Given the description of an element on the screen output the (x, y) to click on. 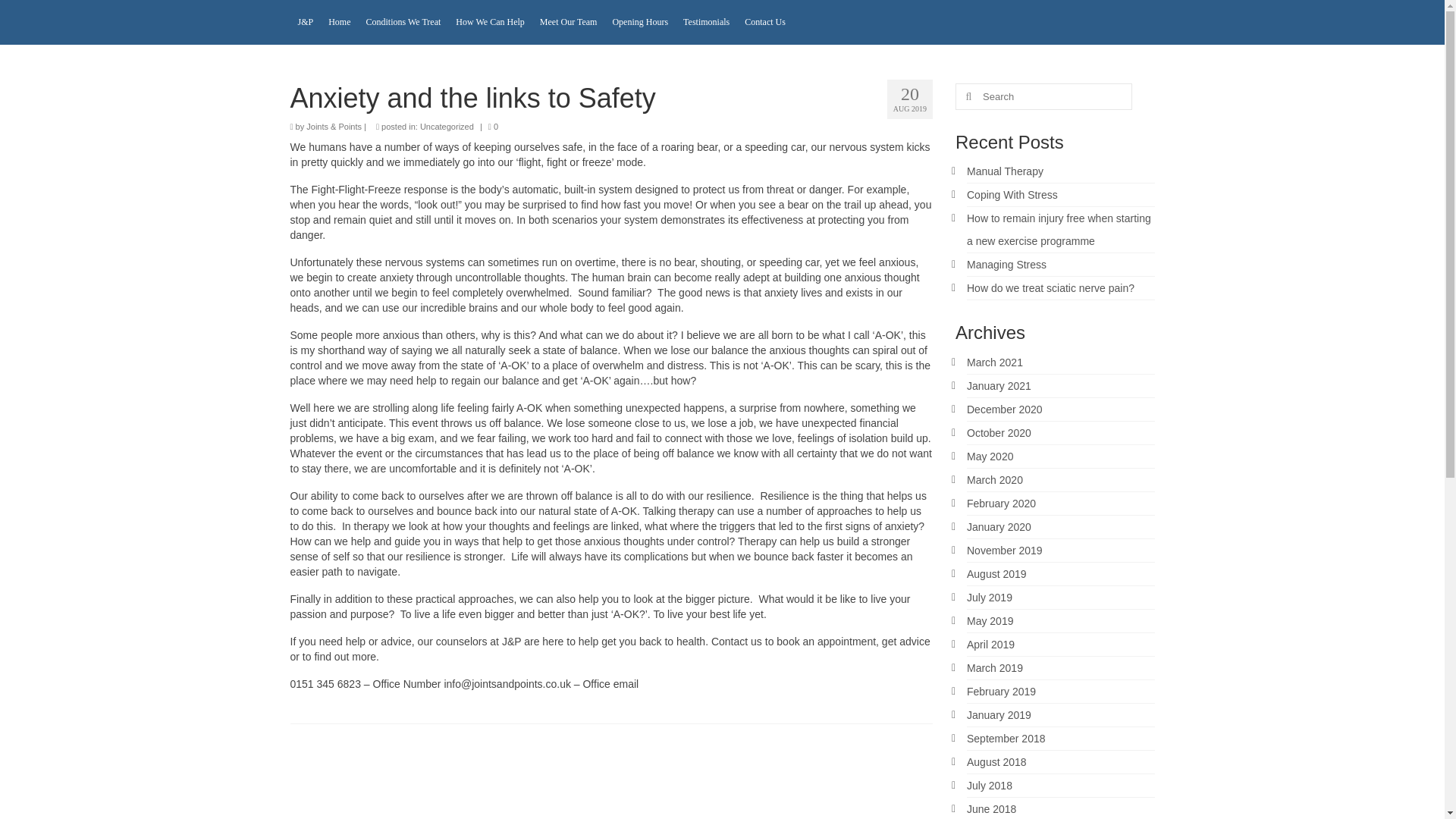
March 2020 (994, 480)
August 2018 (996, 761)
Managing Stress (1006, 264)
September 2018 (1005, 738)
Coping With Stress (1012, 194)
Uncategorized (447, 126)
How do we treat sciatic nerve pain? (1050, 287)
December 2020 (1004, 409)
March 2019 (994, 667)
February 2019 (1000, 691)
January 2020 (998, 526)
November 2019 (1004, 550)
Conditions We Treat (403, 22)
Testimonials (705, 22)
